Given the description of an element on the screen output the (x, y) to click on. 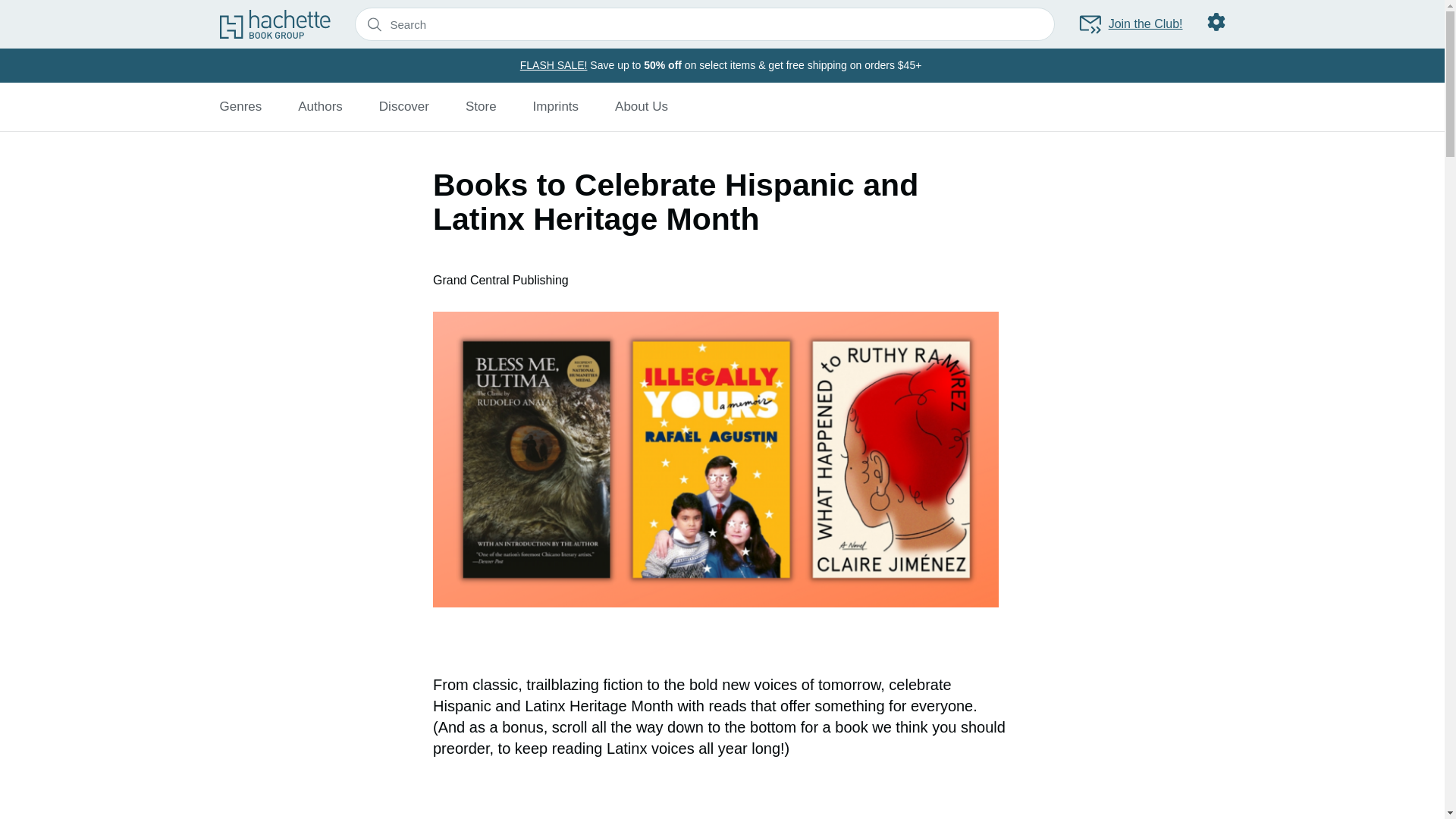
Join the Club! (1130, 24)
FLASH SALE! (553, 64)
Go to Hachette Book Group home (274, 23)
Genres (240, 106)
